Given the description of an element on the screen output the (x, y) to click on. 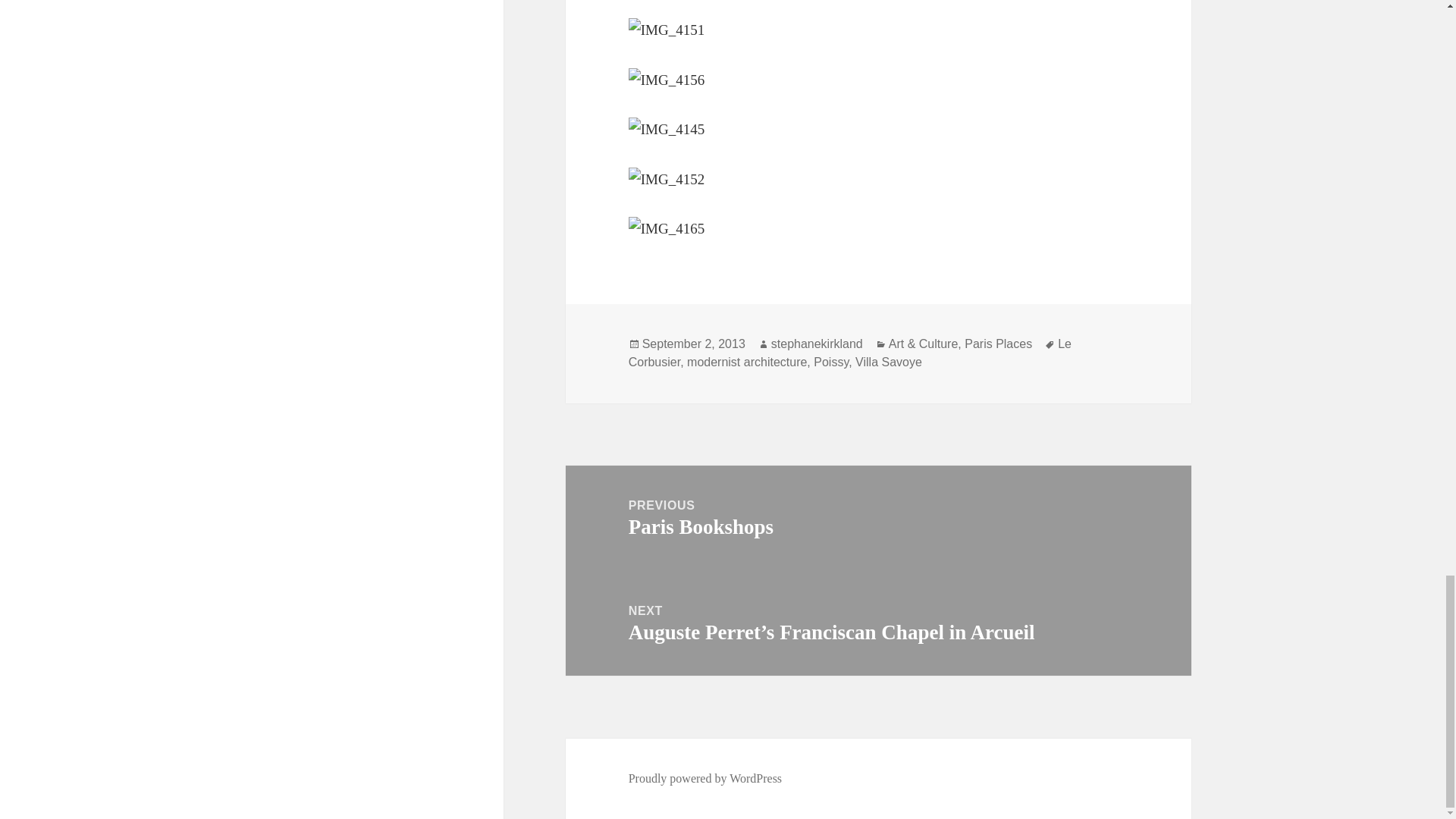
Poissy (830, 362)
Villa Savoye (888, 362)
stephanekirkland (817, 344)
Proudly powered by WordPress (878, 518)
September 2, 2013 (704, 778)
modernist architecture (693, 344)
Le Corbusier (746, 362)
Paris Places (849, 353)
